Given the description of an element on the screen output the (x, y) to click on. 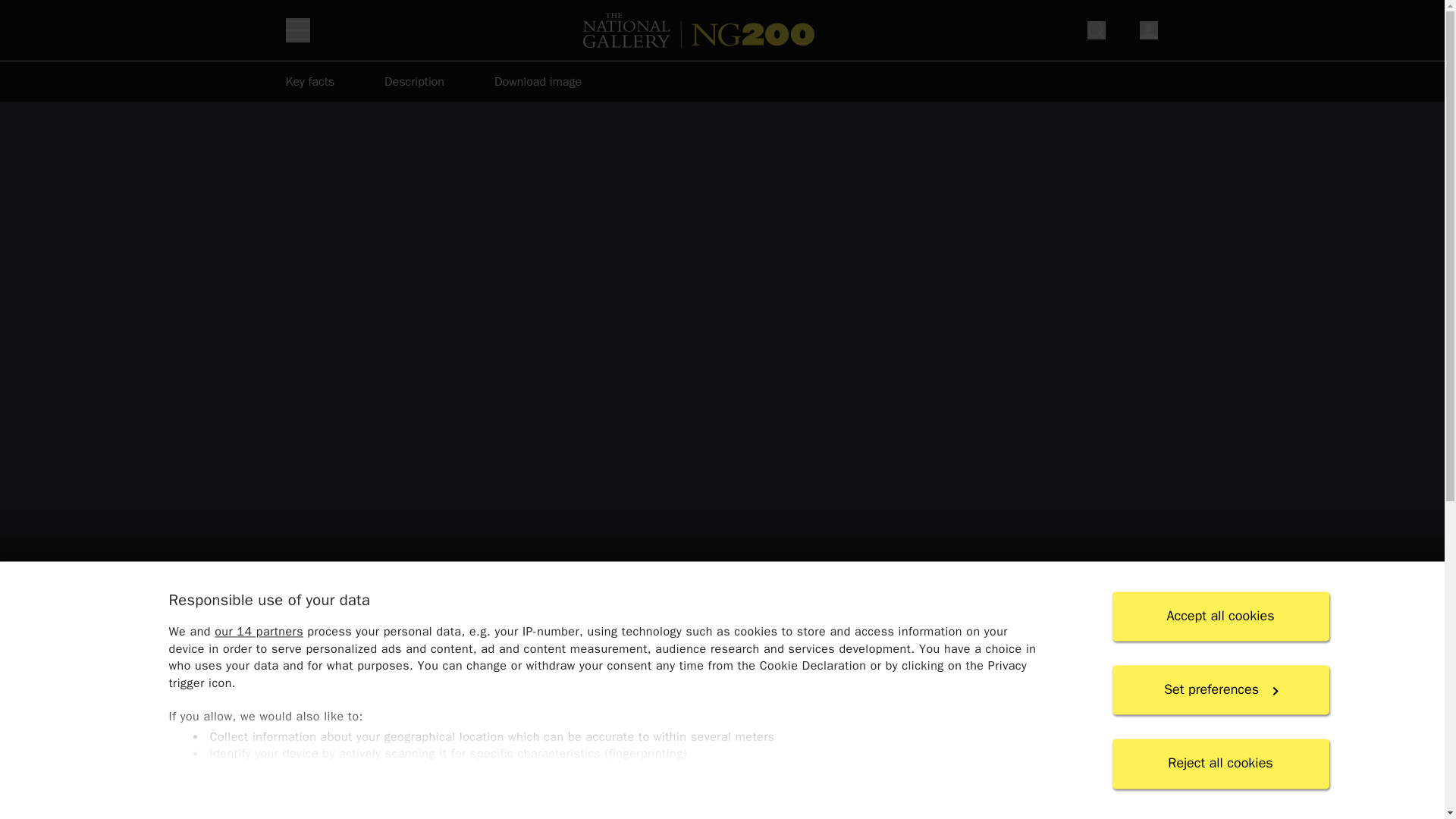
our 14 partners (258, 631)
details section (720, 774)
